Given the description of an element on the screen output the (x, y) to click on. 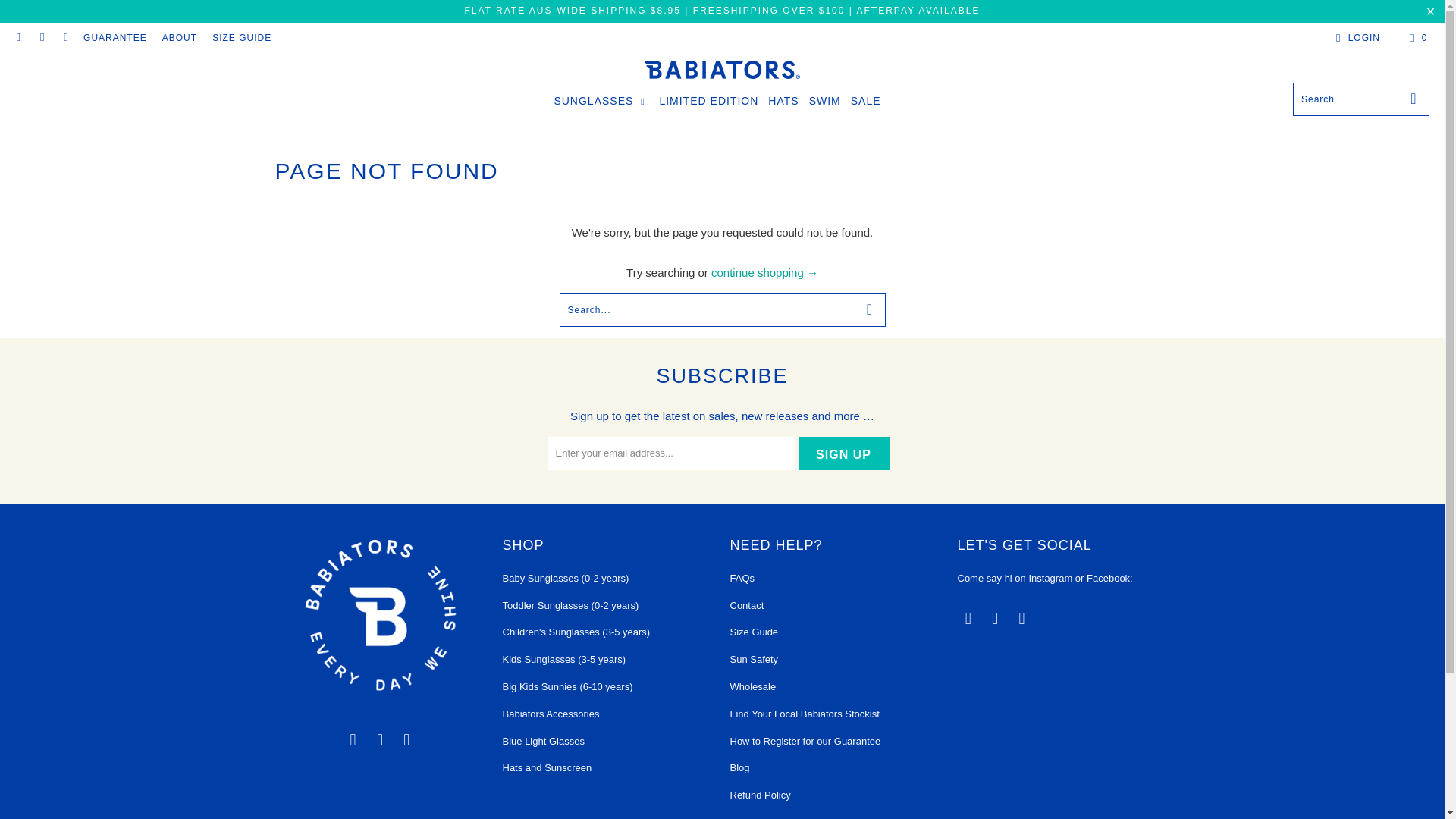
Email Babiators Aus (353, 740)
Babiators Aus on Facebook (995, 618)
Babiators Aus on Instagram (1021, 618)
GUARANTEE (114, 37)
Babiators Aus (722, 71)
Babiators Aus on Facebook (380, 740)
Sign Up (842, 453)
Babiators Aus on Instagram (65, 37)
Email Babiators Aus (17, 37)
ABOUT (178, 37)
Babiators Aus on Facebook (41, 37)
Babiators Aus on Instagram (407, 740)
My Account  (1355, 37)
Email Babiators Aus (967, 618)
